Given the description of an element on the screen output the (x, y) to click on. 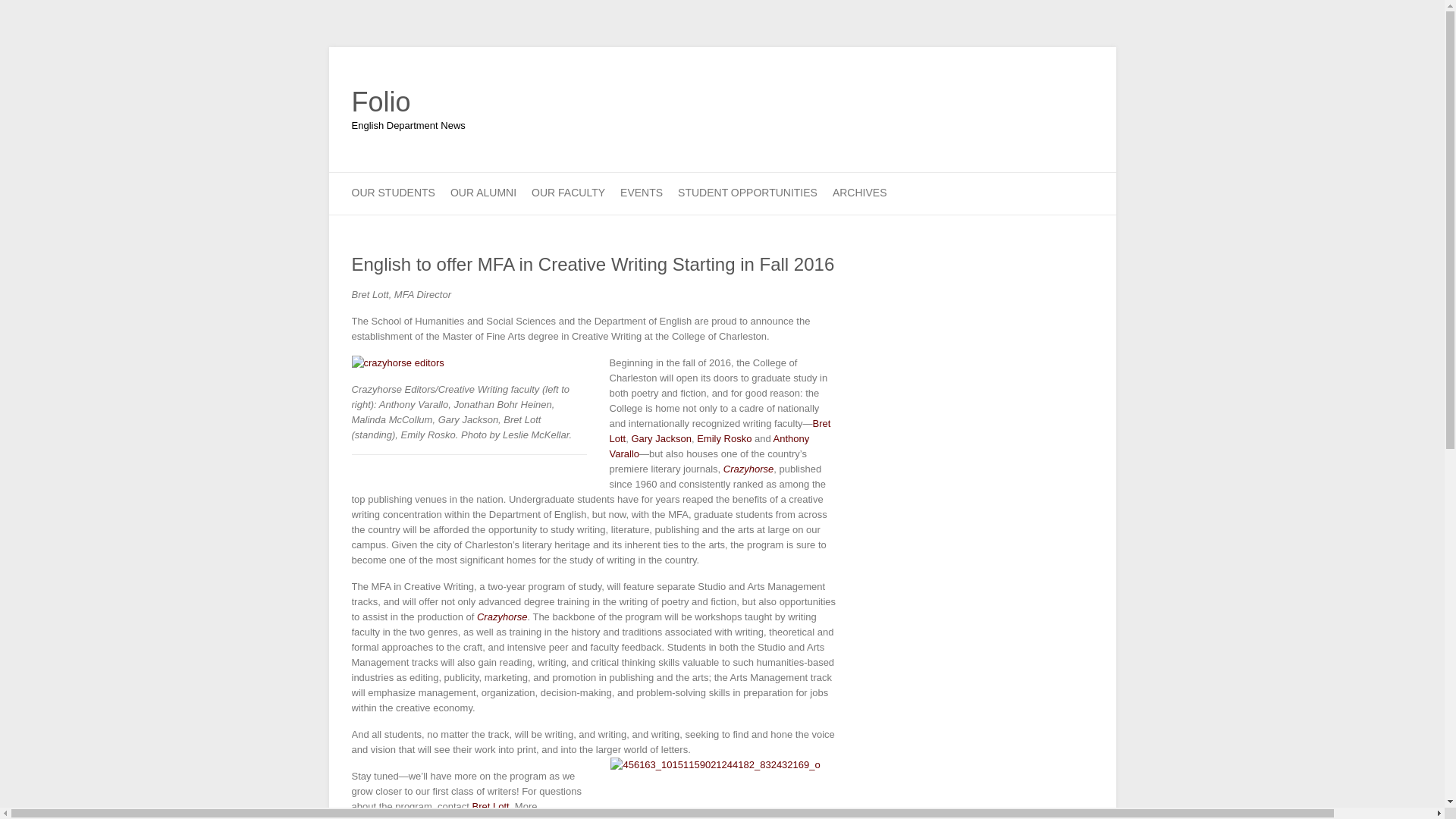
Gary Jackson (660, 438)
Folio (408, 101)
Emily Rosko (724, 438)
Folio (408, 101)
Crazyhorse (748, 469)
Anthony Varallo (709, 446)
EVENTS (641, 193)
Bret Lott (489, 806)
OUR FACULTY (568, 193)
OUR STUDENTS (393, 193)
